Given the description of an element on the screen output the (x, y) to click on. 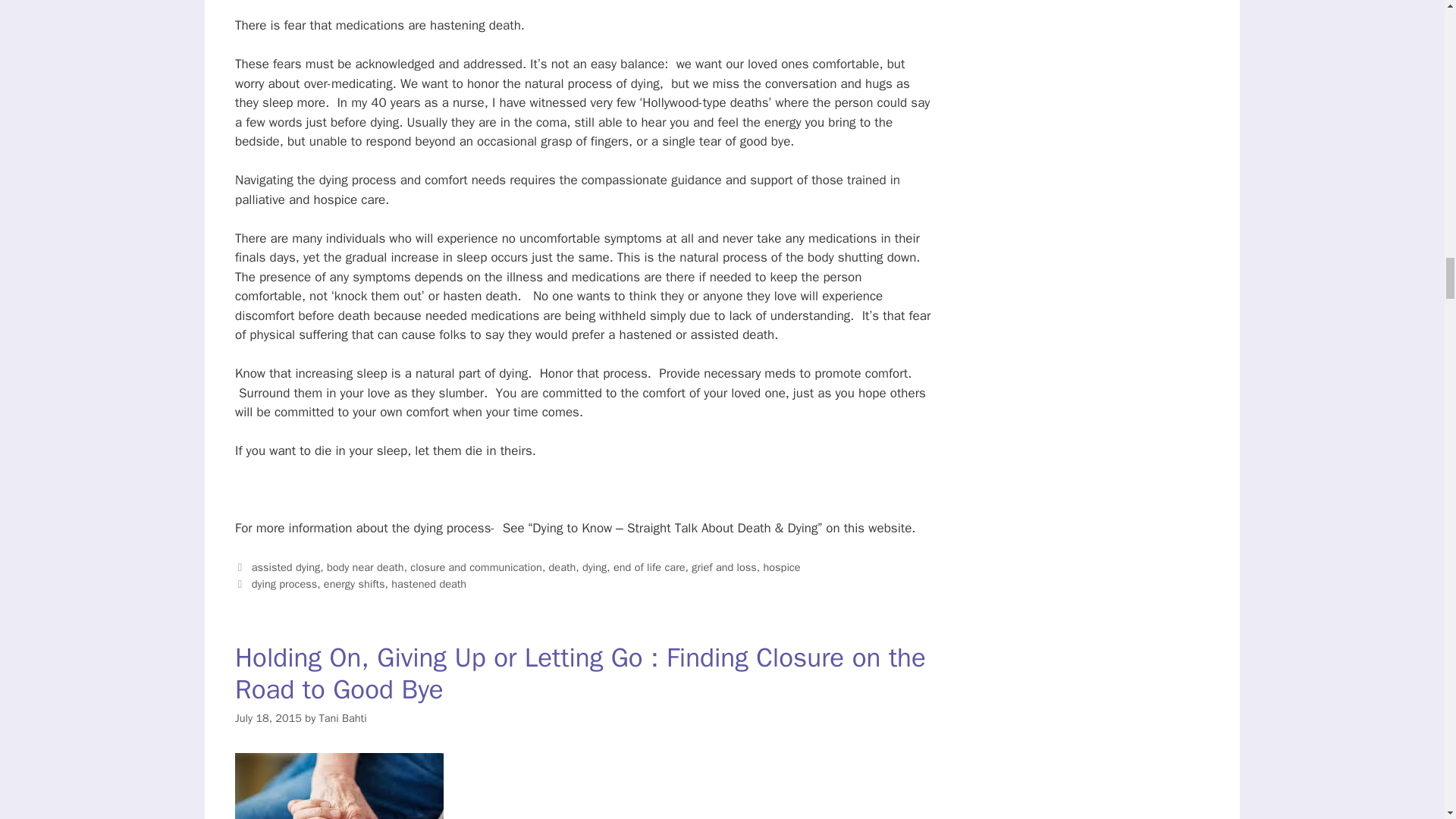
View all posts by Tani Bahti (342, 717)
